Given the description of an element on the screen output the (x, y) to click on. 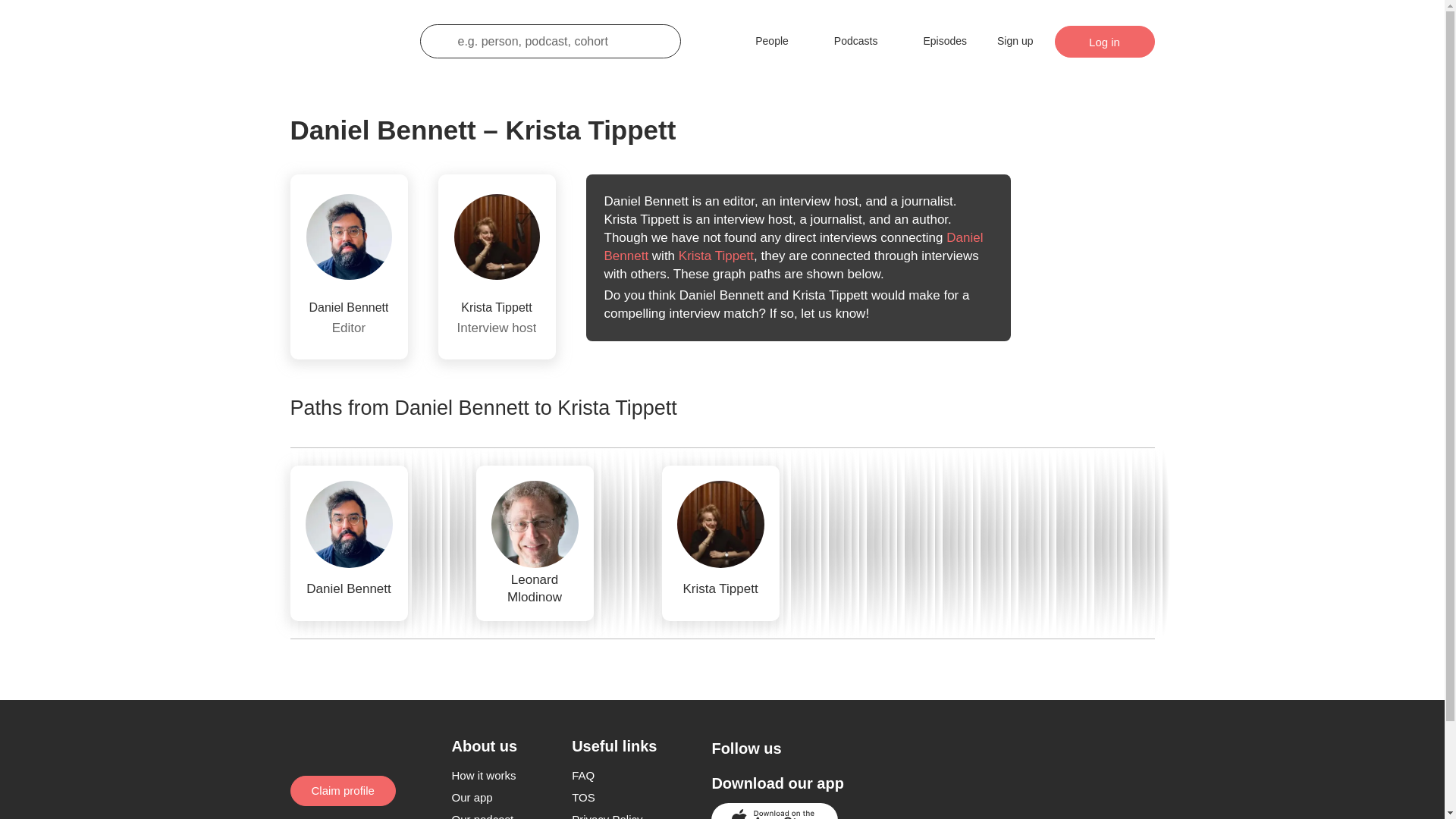
Our app (472, 797)
Podcasts (844, 40)
How it works (483, 775)
Log in (1104, 41)
Episodes (933, 40)
FAQ (583, 775)
let us know (832, 313)
Our podcast (482, 816)
People (761, 40)
Claim profile (341, 790)
